Given the description of an element on the screen output the (x, y) to click on. 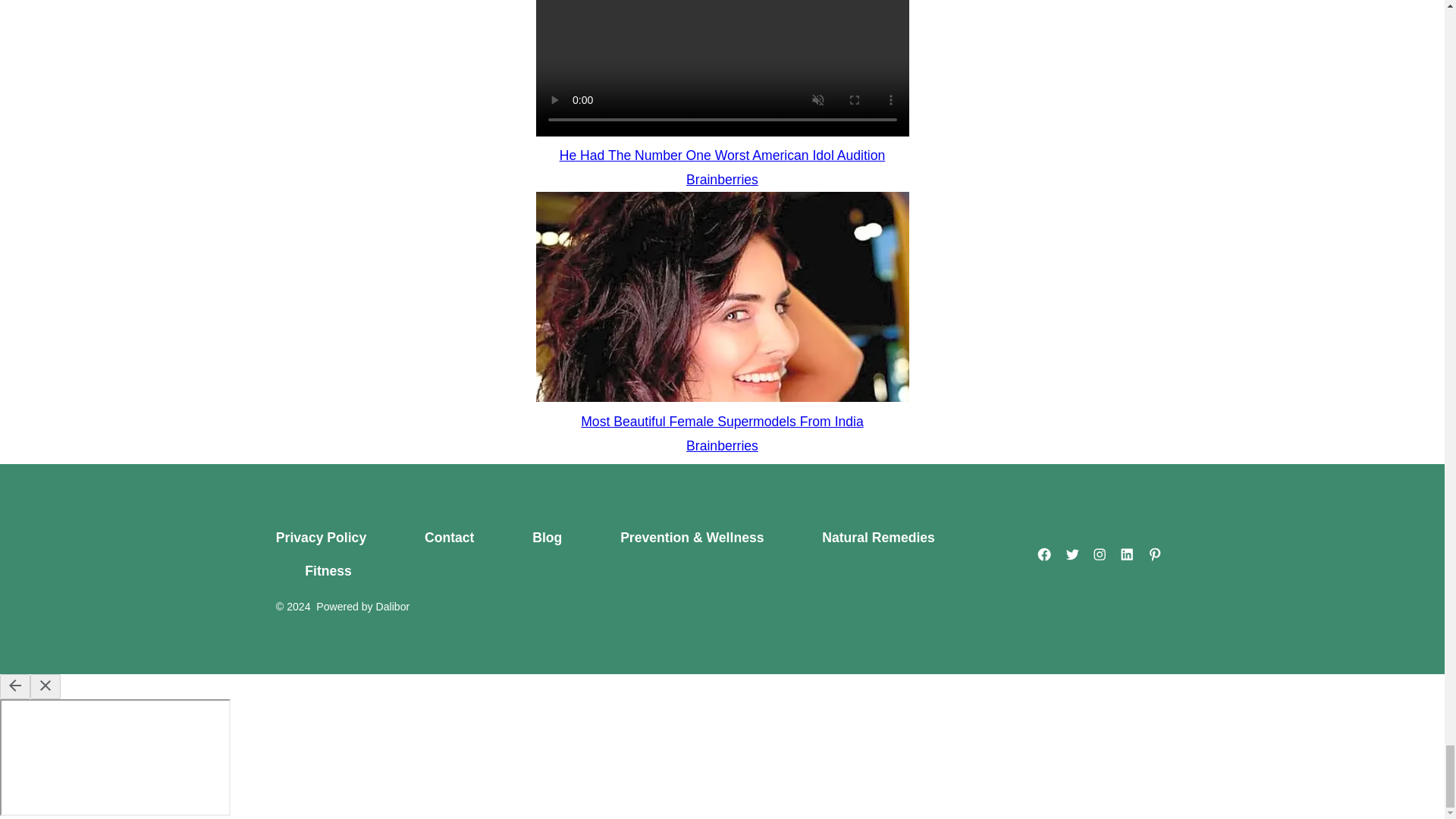
Blog (547, 538)
Contact (449, 538)
Open Pinterest in a new tab (1155, 554)
Open Twitter in a new tab (1072, 554)
Fitness (328, 571)
Open Facebook in a new tab (1044, 554)
Open LinkedIn in a new tab (1126, 554)
Natural Remedies (878, 538)
Open Instagram in a new tab (1099, 554)
Privacy Policy (336, 538)
